Given the description of an element on the screen output the (x, y) to click on. 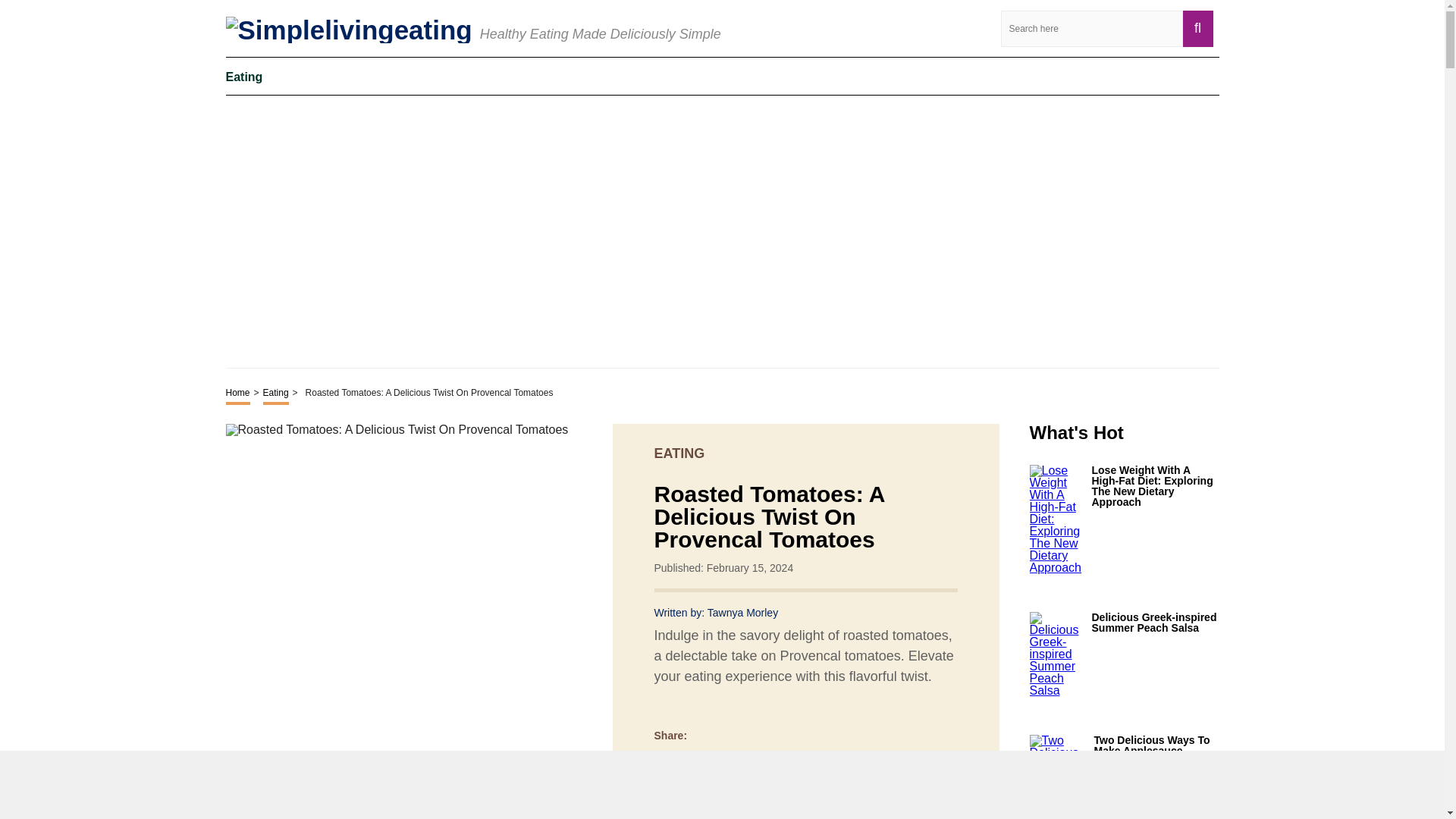
Home (237, 394)
Eating (275, 394)
Two Delicious Ways To Make Applesauce Compote (1155, 750)
Eating (244, 75)
Delicious Greek-inspired Summer Peach Salsa (1156, 622)
